Given the description of an element on the screen output the (x, y) to click on. 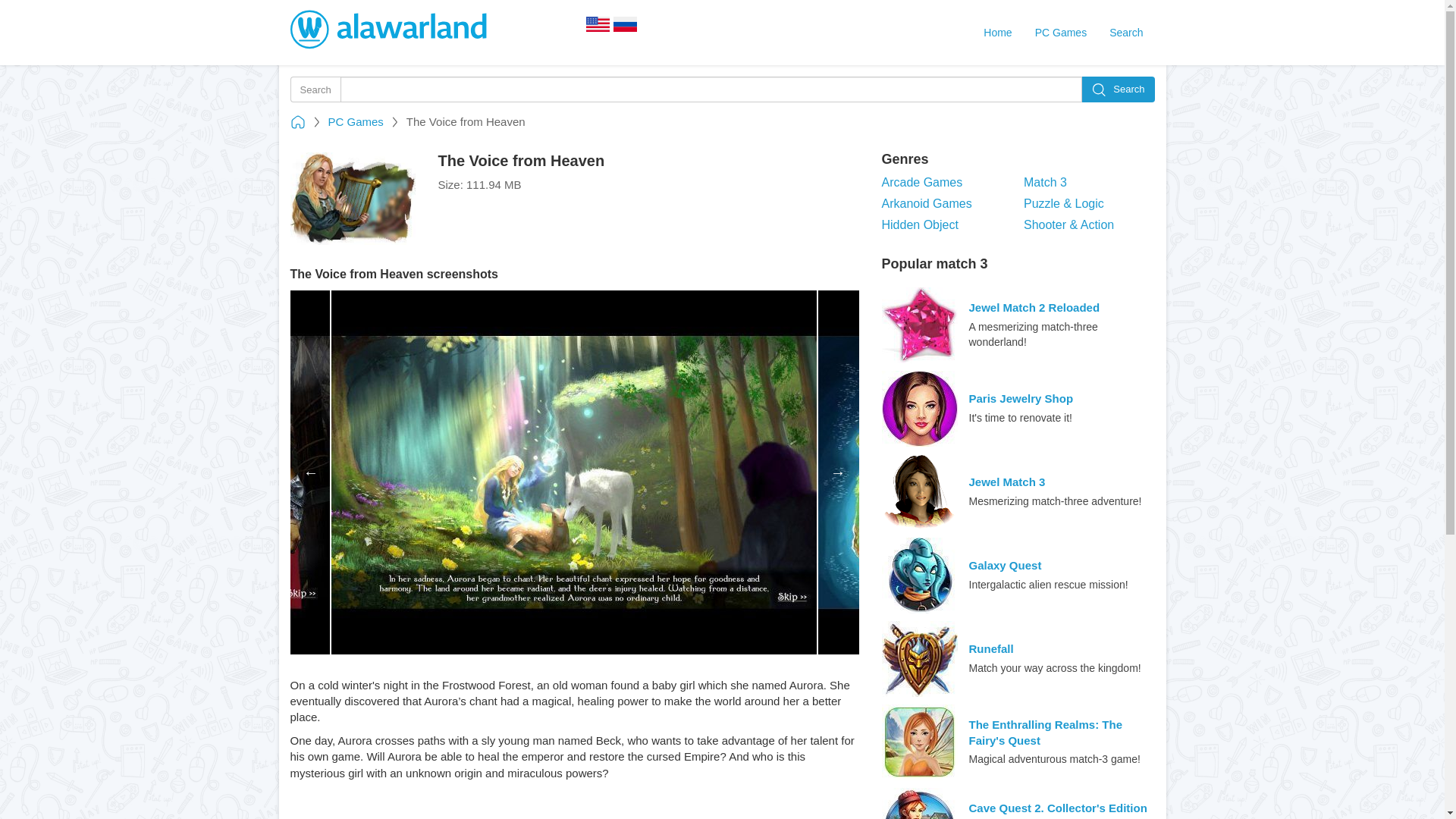
The Voice from Heaven - Screenshot 7 (164, 472)
Arkanoid Games (945, 203)
Runefall (991, 648)
AlawarLand (389, 30)
Go to AlawarLand RUS (624, 28)
Home (997, 32)
Advertisement (574, 809)
Paris Jewelry Shop (1021, 398)
